Given the description of an element on the screen output the (x, y) to click on. 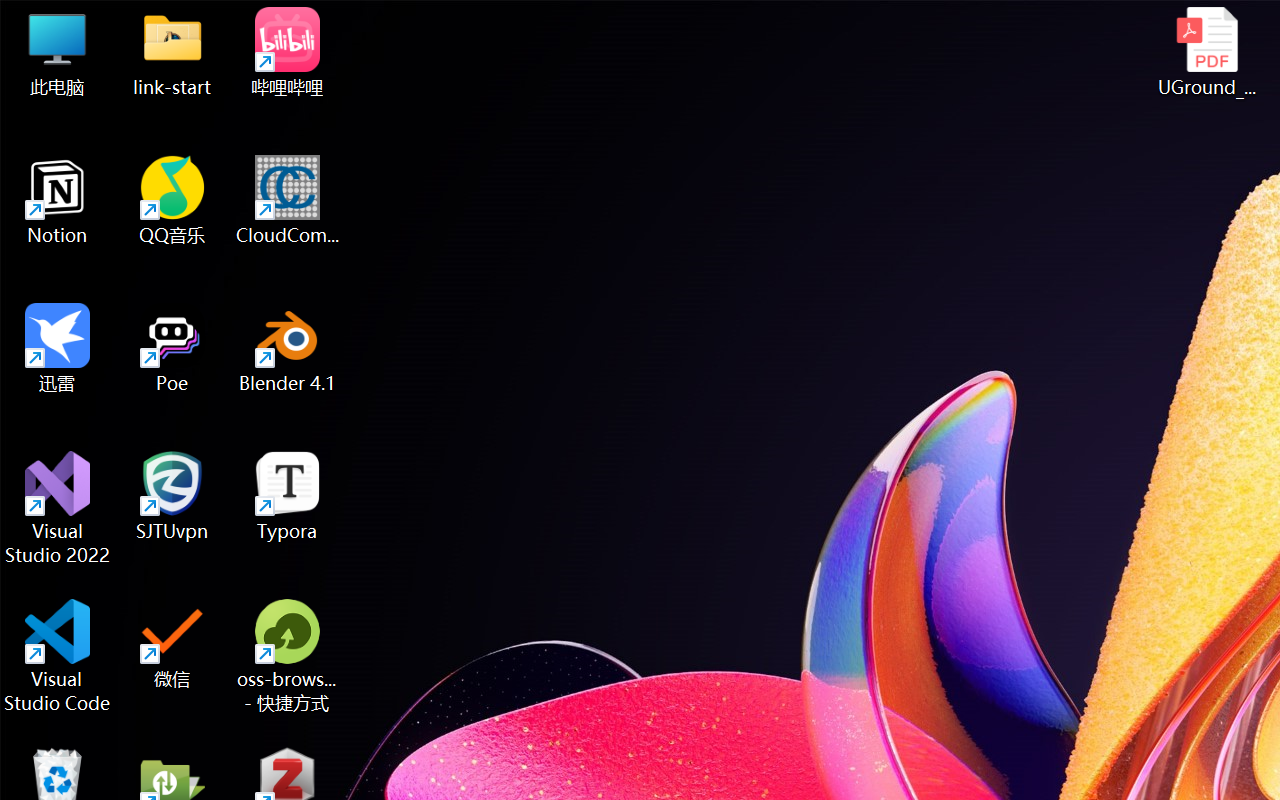
CloudCompare (287, 200)
Typora (287, 496)
Visual Studio 2022 (57, 508)
UGround_paper.pdf (1206, 52)
Visual Studio Code (57, 656)
Blender 4.1 (287, 348)
